Given the description of an element on the screen output the (x, y) to click on. 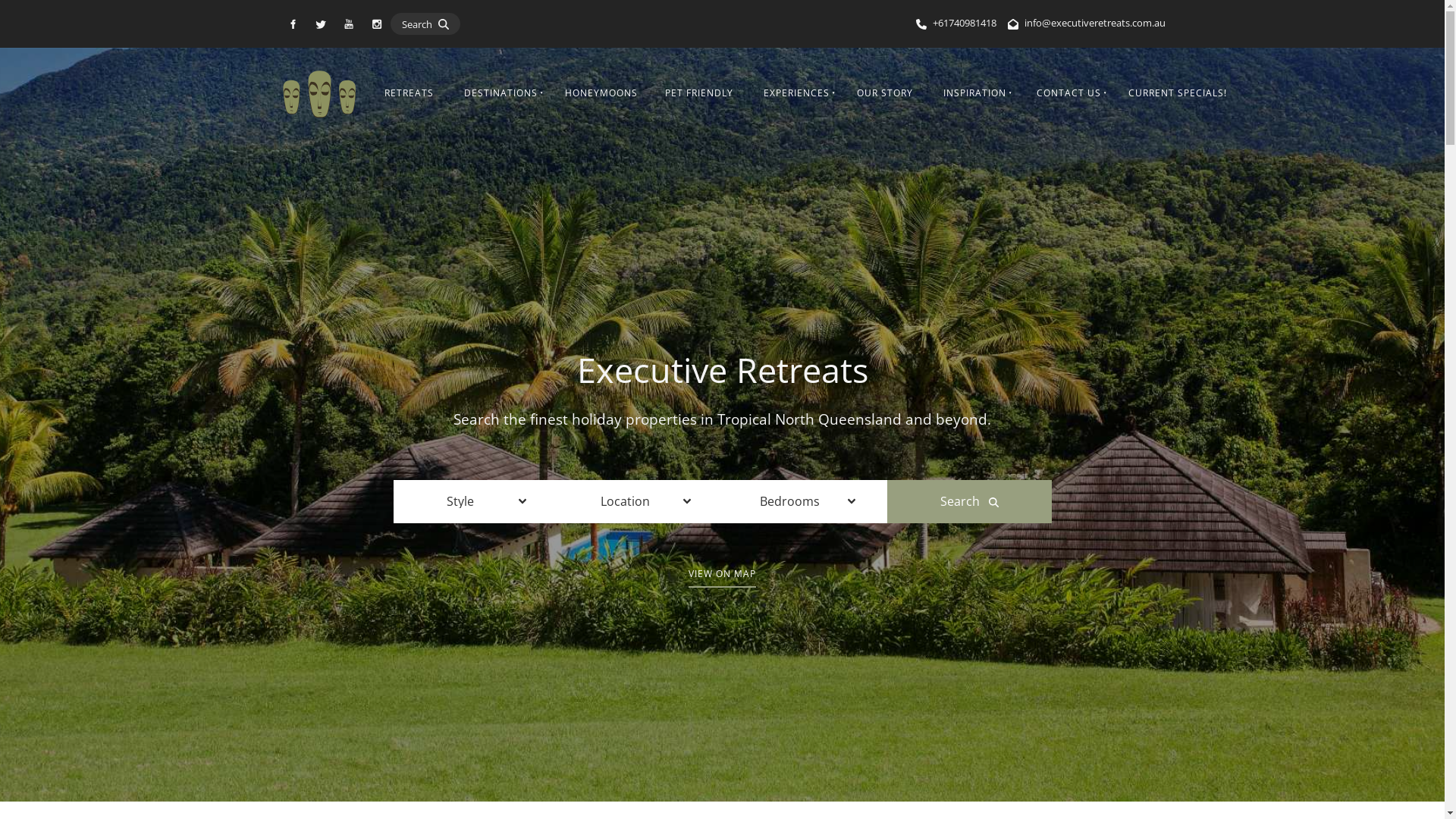
DESTINATIONS Element type: text (499, 93)
RETREATS Element type: text (408, 93)
PET FRIENDLY Element type: text (698, 93)
VIEW ON MAP Element type: text (722, 573)
INSPIRATION Element type: text (972, 93)
info@executiveretreats.com.au Element type: text (1093, 21)
Facebook Element type: hover (292, 23)
CONTACT US Element type: text (1066, 93)
Twitter Element type: hover (320, 23)
CURRENT SPECIALS! Element type: text (1177, 93)
HONEYMOONS Element type: text (601, 93)
Youtube Element type: hover (348, 23)
Search   Element type: text (969, 500)
EXPERIENCES Element type: text (794, 93)
OUR STORY Element type: text (884, 93)
Instagram Element type: hover (377, 23)
